Given the description of an element on the screen output the (x, y) to click on. 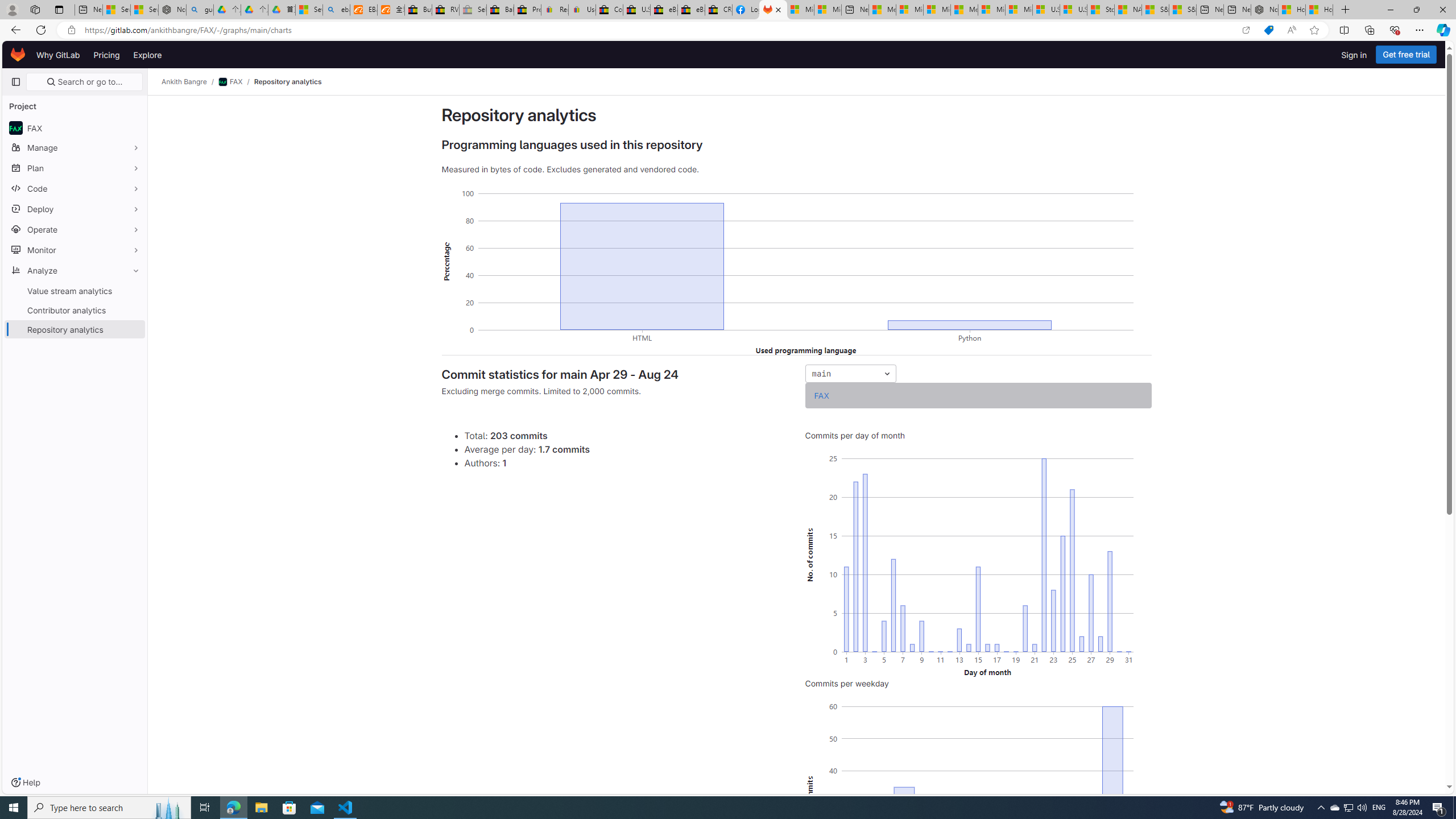
U.S. State Privacy Disclosures - eBay Inc. (636, 9)
Explore (146, 54)
Plan (74, 167)
Shopping in Microsoft Edge (1268, 29)
Sign in (1353, 54)
Deploy (74, 208)
